Given the description of an element on the screen output the (x, y) to click on. 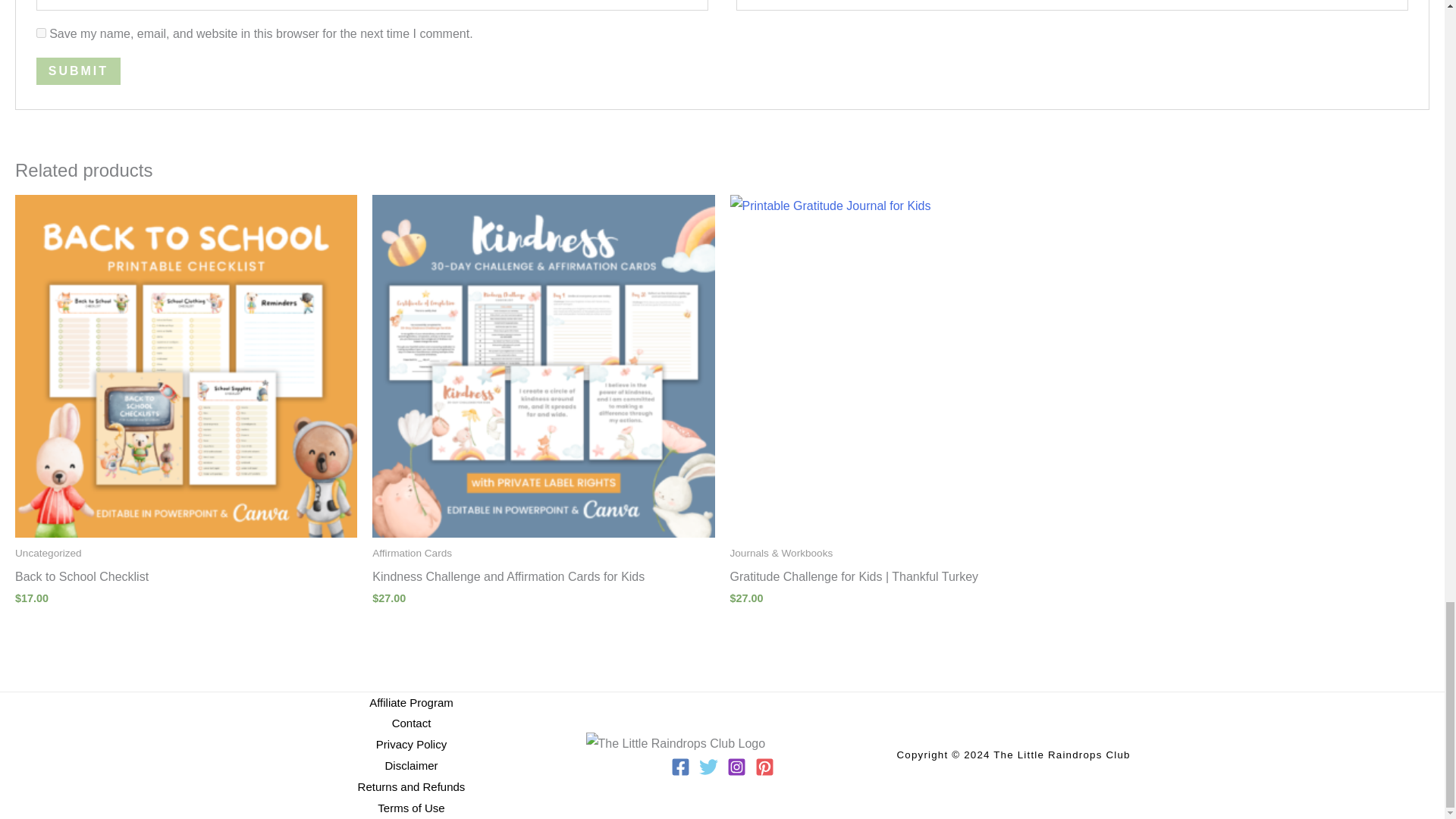
Submit (78, 71)
Kindness Challenge and Affirmation Cards for Kids (543, 580)
yes (41, 32)
Back to School Checklist (185, 580)
Submit (78, 71)
